Given the description of an element on the screen output the (x, y) to click on. 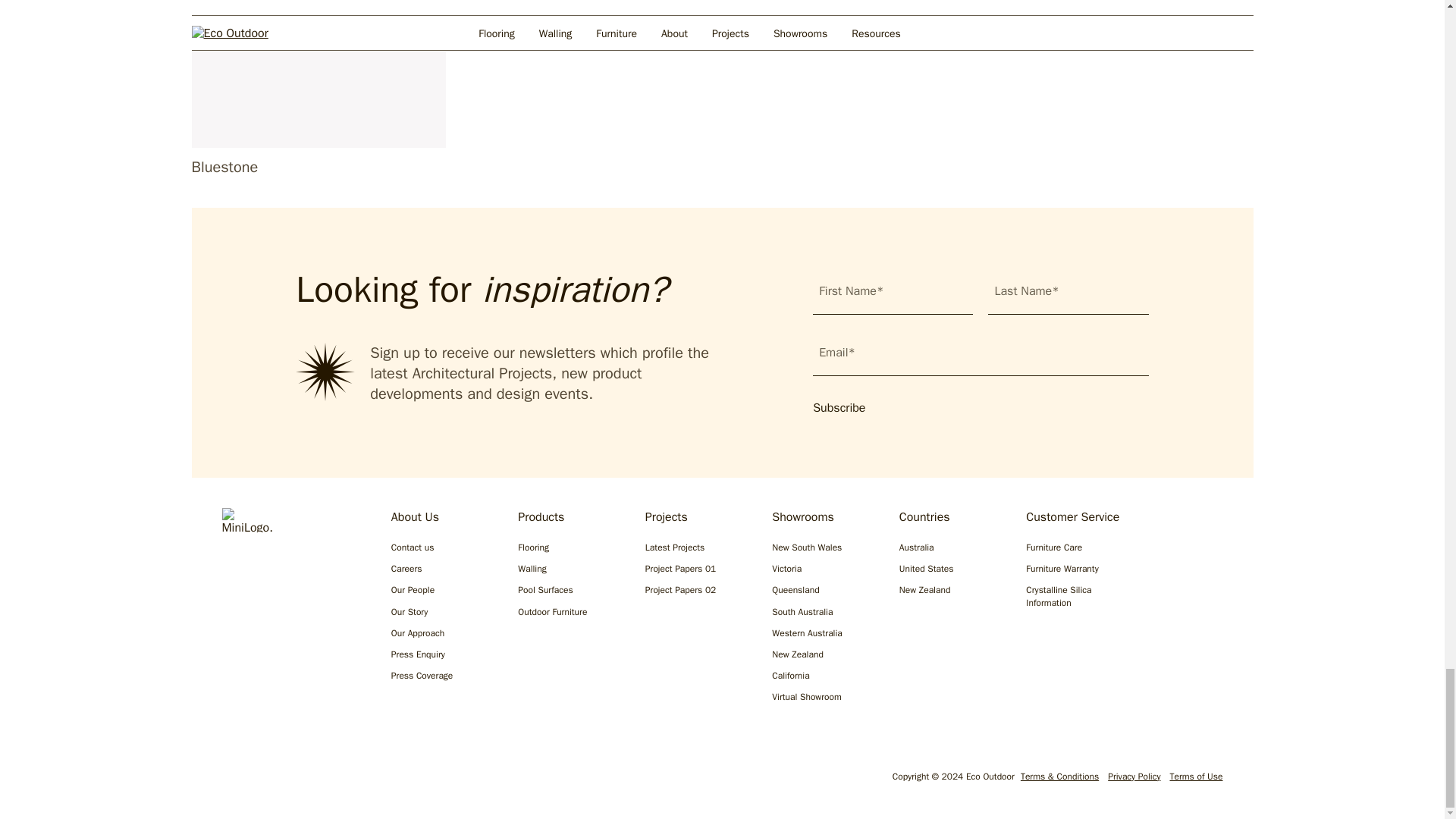
Swatch Collection 2023 (317, 74)
LinkedIn (327, 779)
Instagram (230, 779)
Facebook (278, 779)
YouTube (375, 779)
MiniLogo.svg (245, 519)
